Given the description of an element on the screen output the (x, y) to click on. 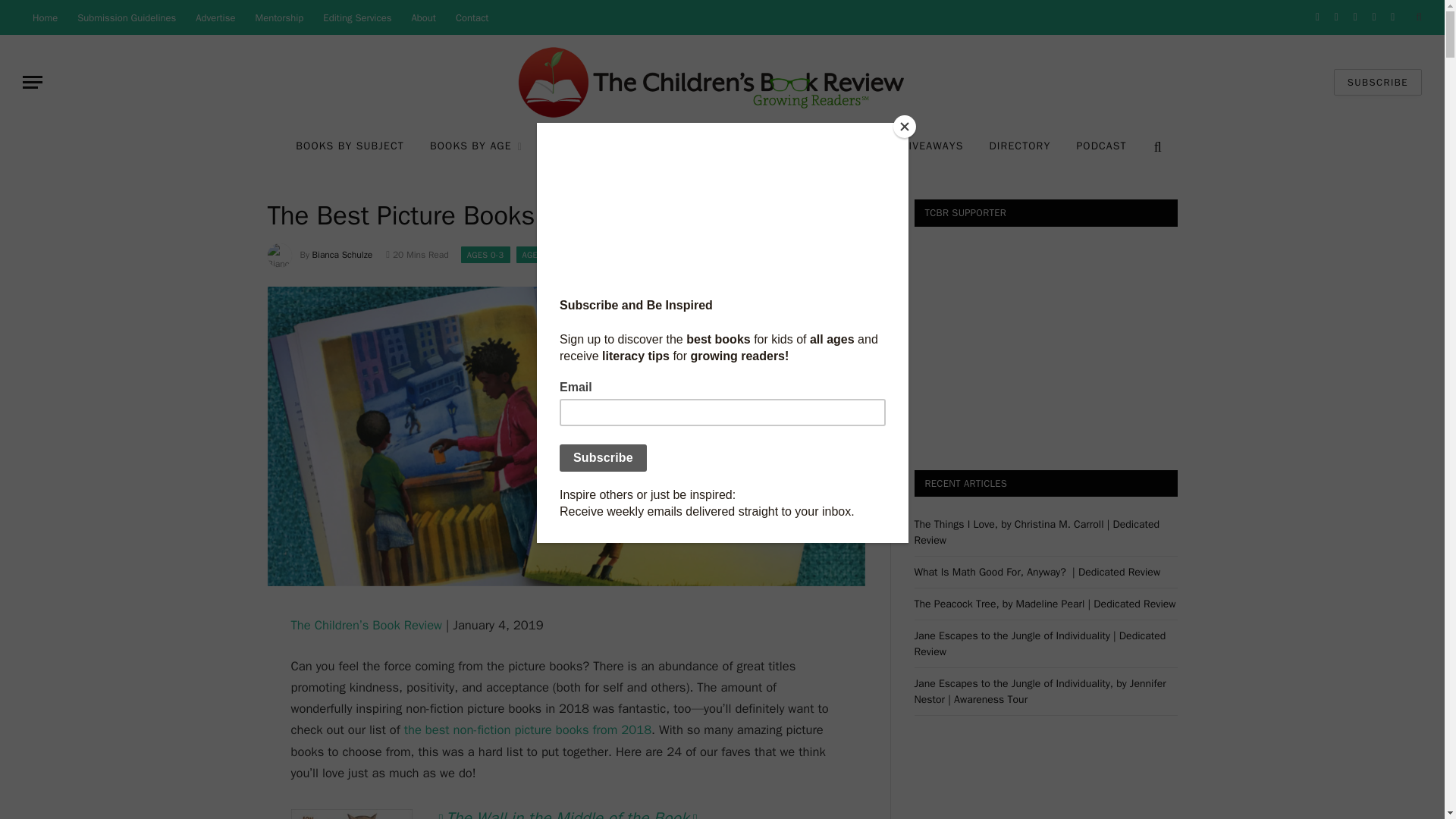
About (423, 17)
BOOKS BY AGE (475, 146)
Contact (472, 17)
Advertise (215, 17)
Instagram (1355, 17)
TikTok (1392, 17)
Posts by Bianca Schulze (342, 254)
BOOKS BY SUBJECT (349, 146)
FAVORITES (582, 146)
Submission Guidelines (126, 17)
Editing Services (357, 17)
The Best Picture Books of 2018 (565, 582)
Facebook (1317, 17)
Pinterest (1374, 17)
Search (1156, 146)
